Given the description of an element on the screen output the (x, y) to click on. 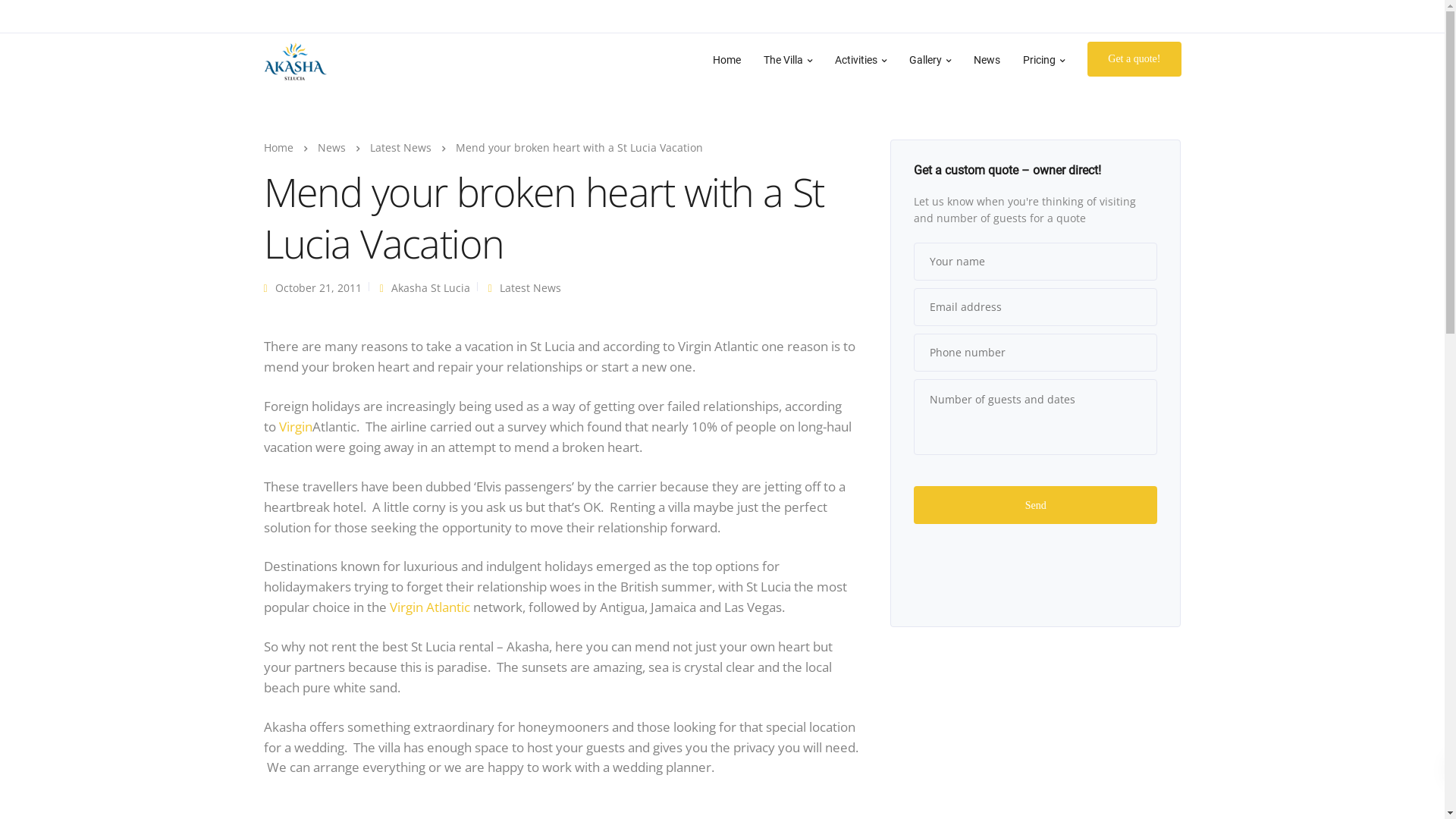
The Villa Element type: text (787, 58)
Latest News Element type: text (530, 287)
Home Element type: text (278, 147)
Home Element type: text (726, 58)
Pricing Element type: text (1043, 58)
Activities Element type: text (860, 58)
Latest News Element type: text (400, 147)
Virgin Atlantic Element type: text (429, 606)
Send Element type: text (1035, 505)
Virgin Element type: text (295, 426)
Get a quote! Element type: text (1133, 58)
Akasha St Lucia Element type: text (430, 287)
News Element type: text (986, 58)
Gallery Element type: text (929, 58)
News Element type: text (330, 147)
